Given the description of an element on the screen output the (x, y) to click on. 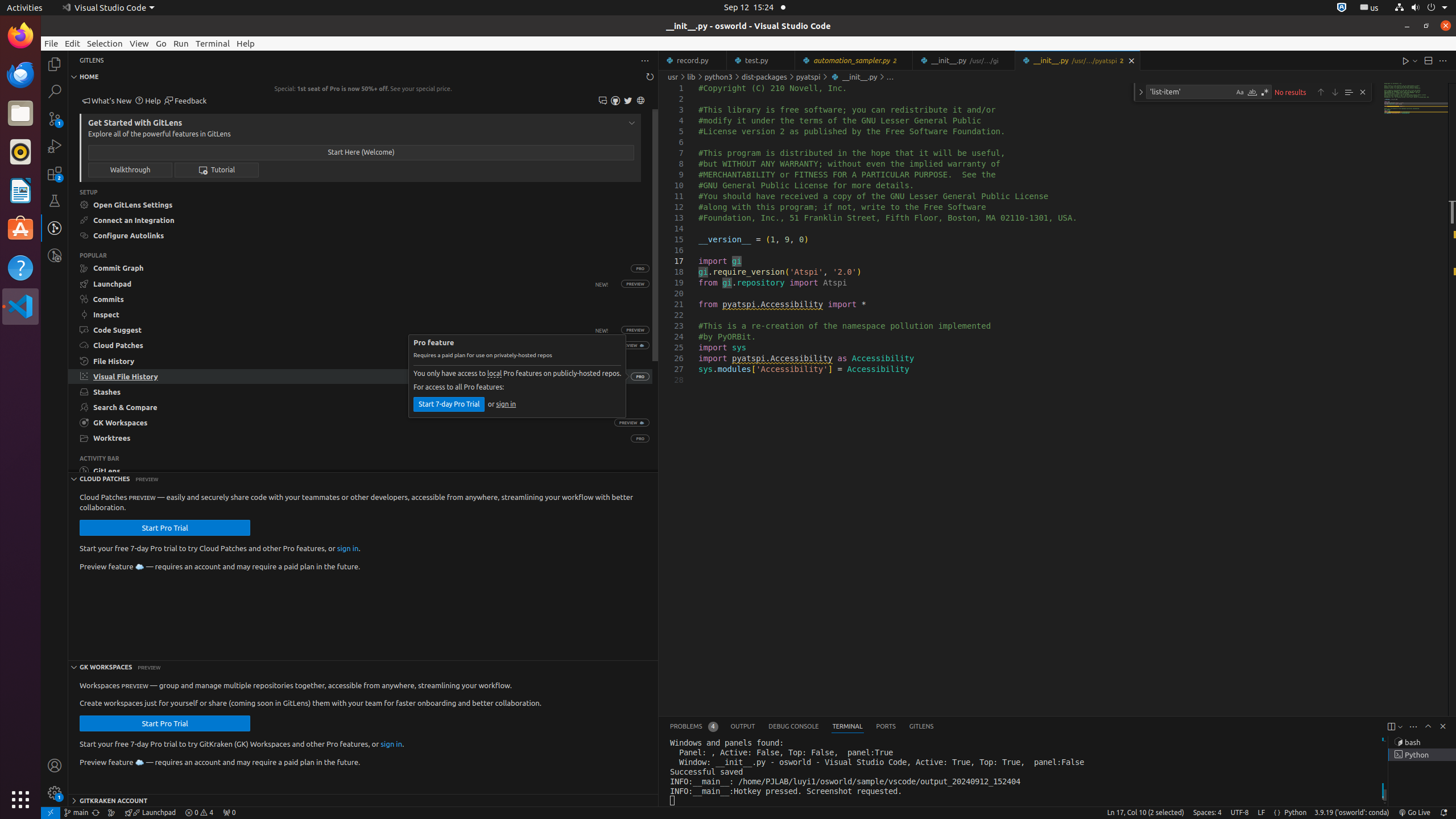
sign in Element type: link (505, 404)
automation_sampler.py, preview Element type: page-tab (854, 60)
GitKraken Account Section Element type: push-button (363, 799)
Search (Ctrl+Shift+F) Element type: page-tab (54, 91)
Debug Console (Ctrl+Shift+Y) Element type: page-tab (793, 726)
